Given the description of an element on the screen output the (x, y) to click on. 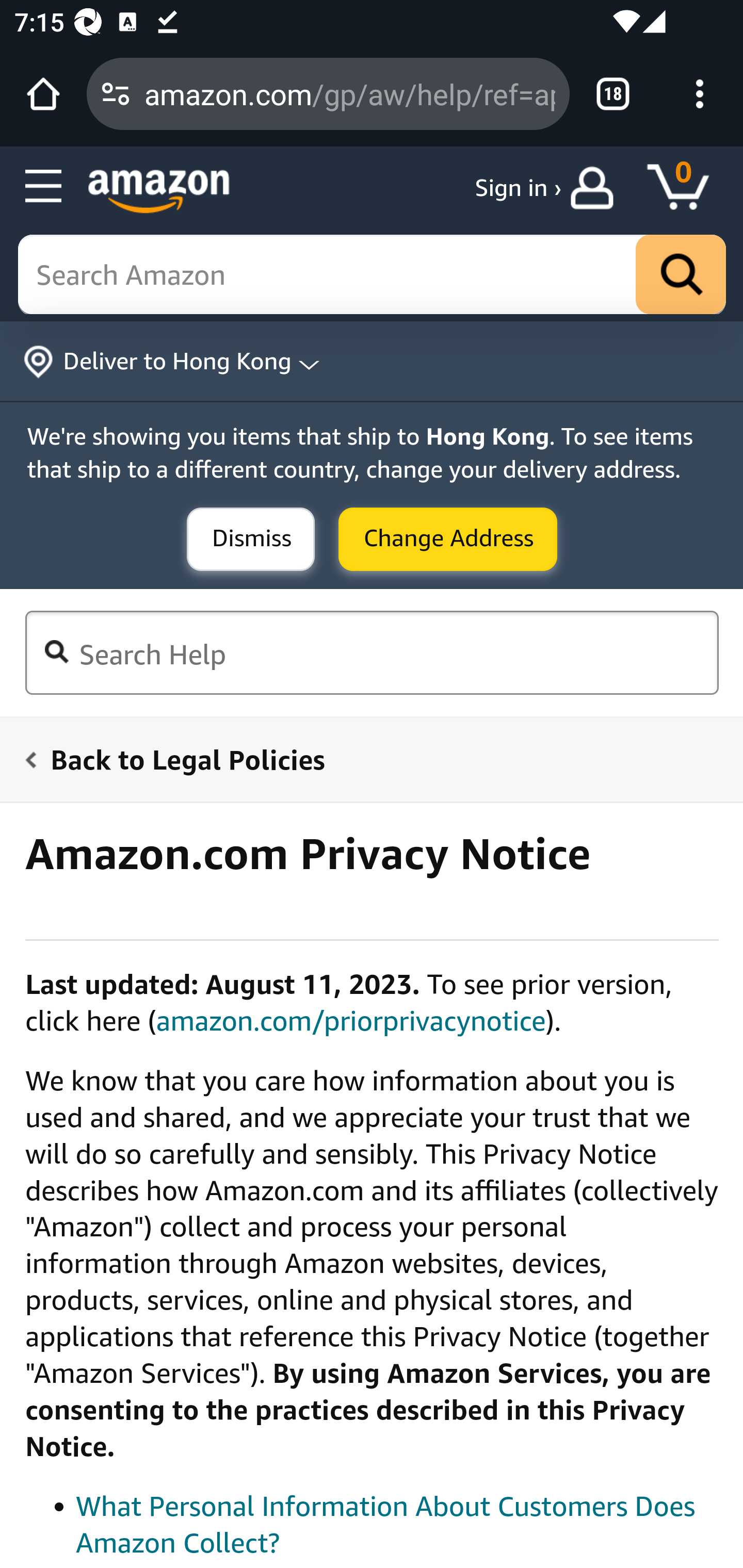
Open the home page (43, 93)
Connection is secure (115, 93)
Switch or close tabs (612, 93)
Customize and control Google Chrome (699, 93)
Open Menu (44, 187)
Sign in › (518, 188)
your account (596, 188)
Cart 0 (687, 188)
Amazon (158, 191)
Go (681, 275)
Submit (250, 539)
Submit (447, 539)
Back to Legal Policies (359, 758)
amazon.com/priorprivacynotice (350, 1020)
